Given the description of an element on the screen output the (x, y) to click on. 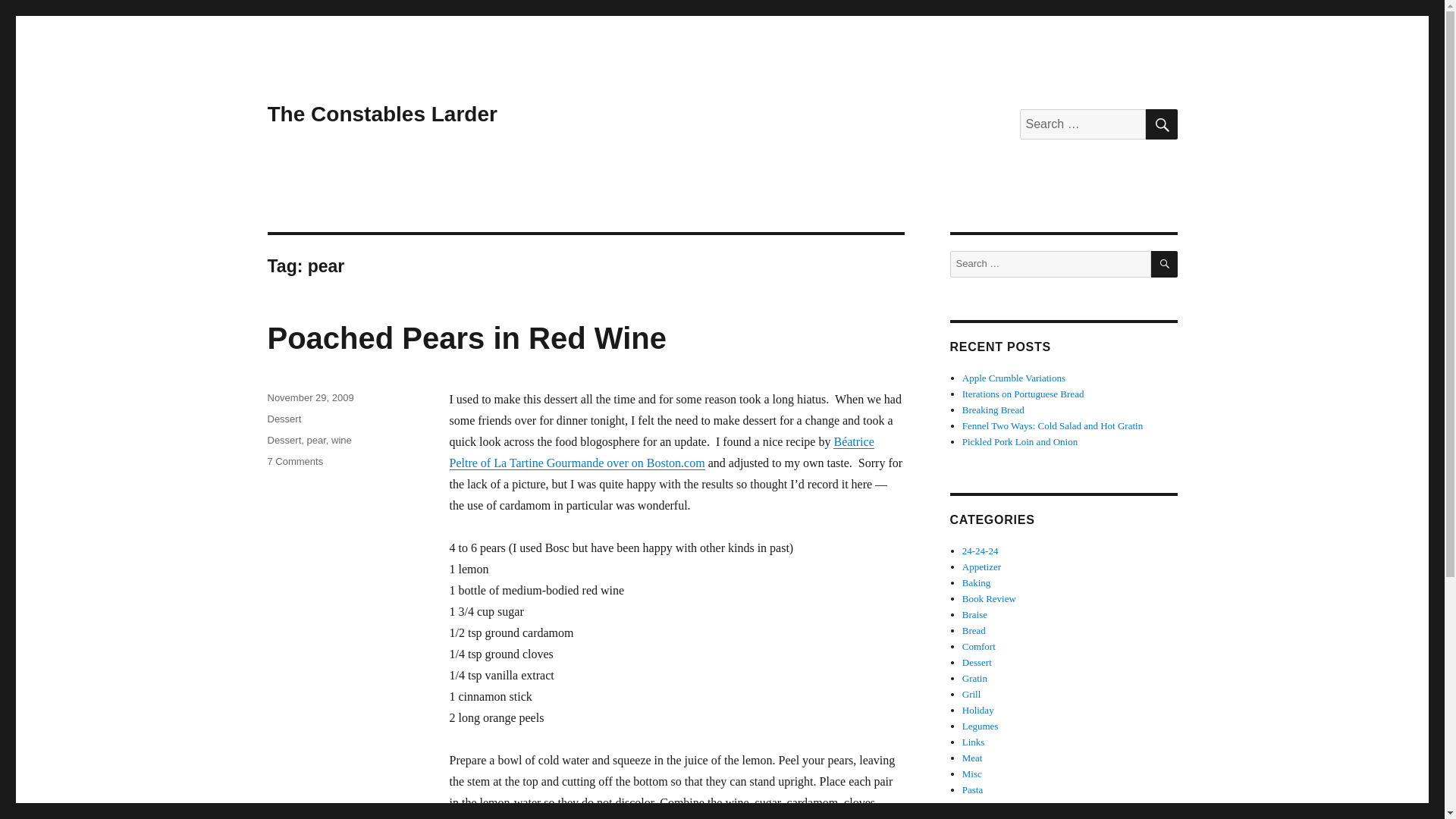
Pastry (974, 805)
Meat (972, 757)
Gratin (974, 677)
November 29, 2009 (309, 397)
Book Review (989, 598)
Pickled Pork Loin and Onion (1019, 441)
Comfort (978, 645)
Bread (973, 630)
Misc (971, 773)
Photography (986, 817)
Poached Pears in Red Wine (465, 337)
SEARCH (294, 460)
Dessert (1160, 123)
Pasta (283, 439)
